Given the description of an element on the screen output the (x, y) to click on. 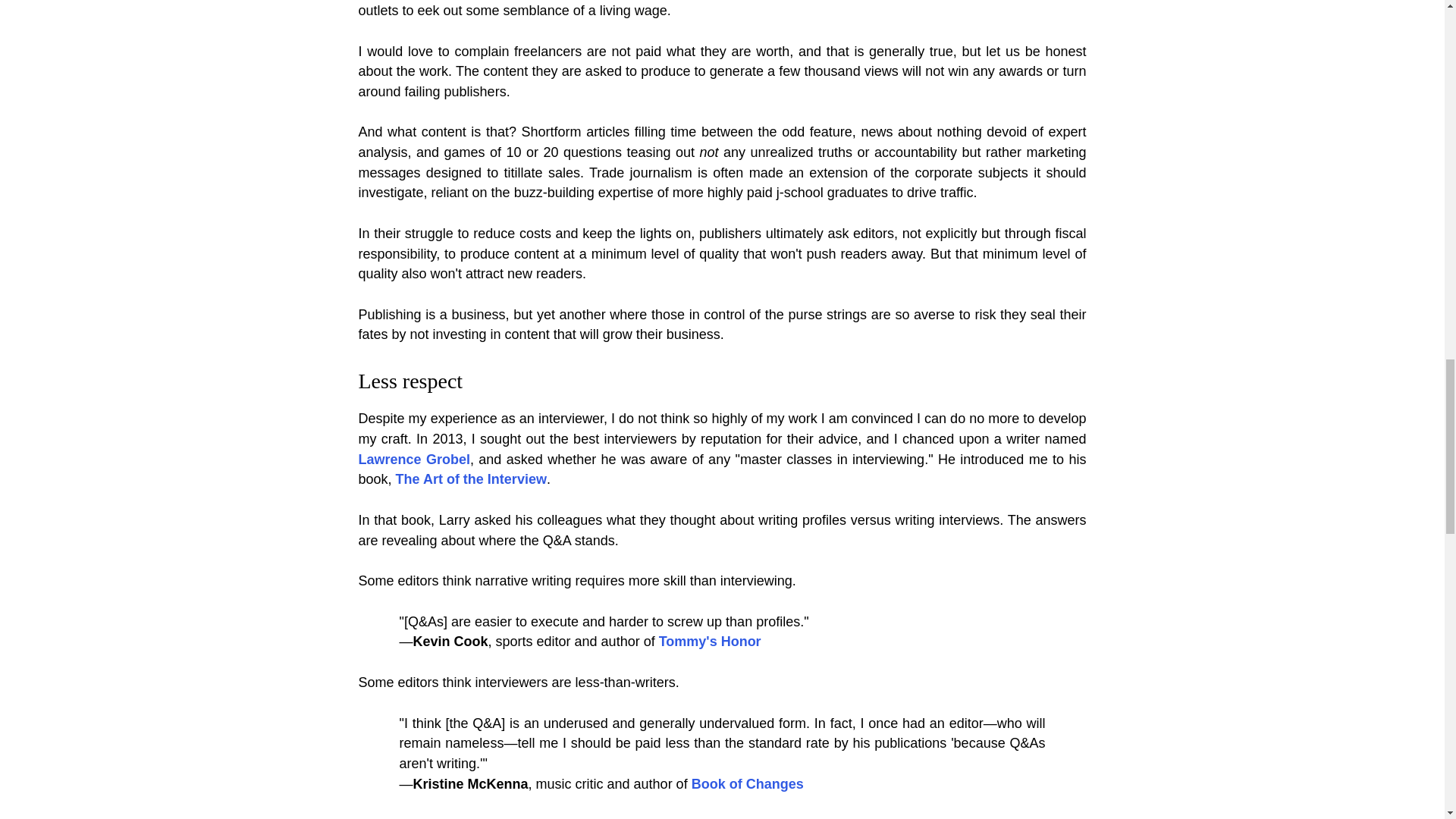
Book of Changes (747, 783)
The Art of the Interview (471, 478)
Lawrence Grobel (413, 459)
Tommy's Honor (710, 641)
